Given the description of an element on the screen output the (x, y) to click on. 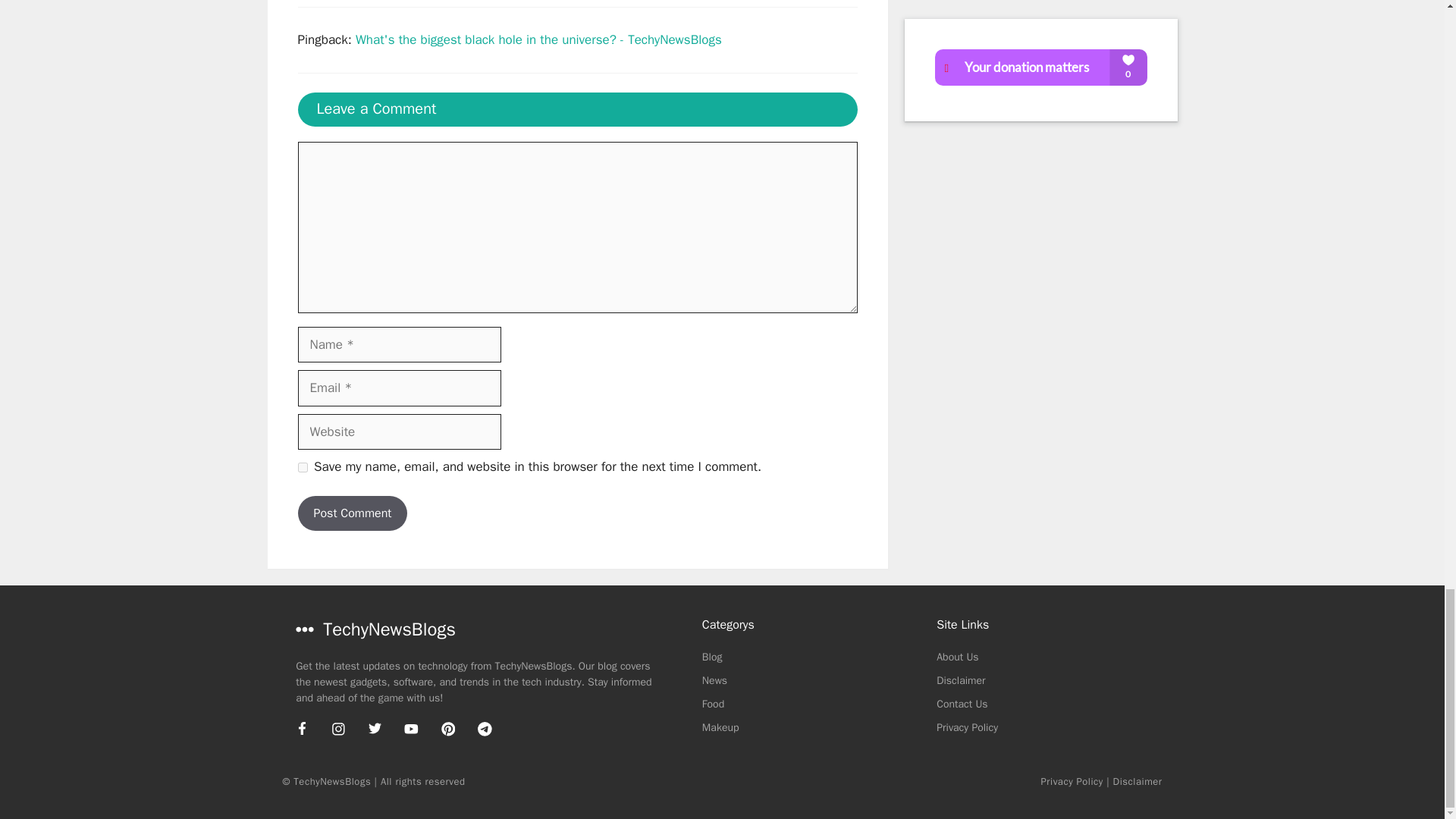
Post Comment (352, 513)
yes (302, 467)
Post Comment (352, 513)
